Given the description of an element on the screen output the (x, y) to click on. 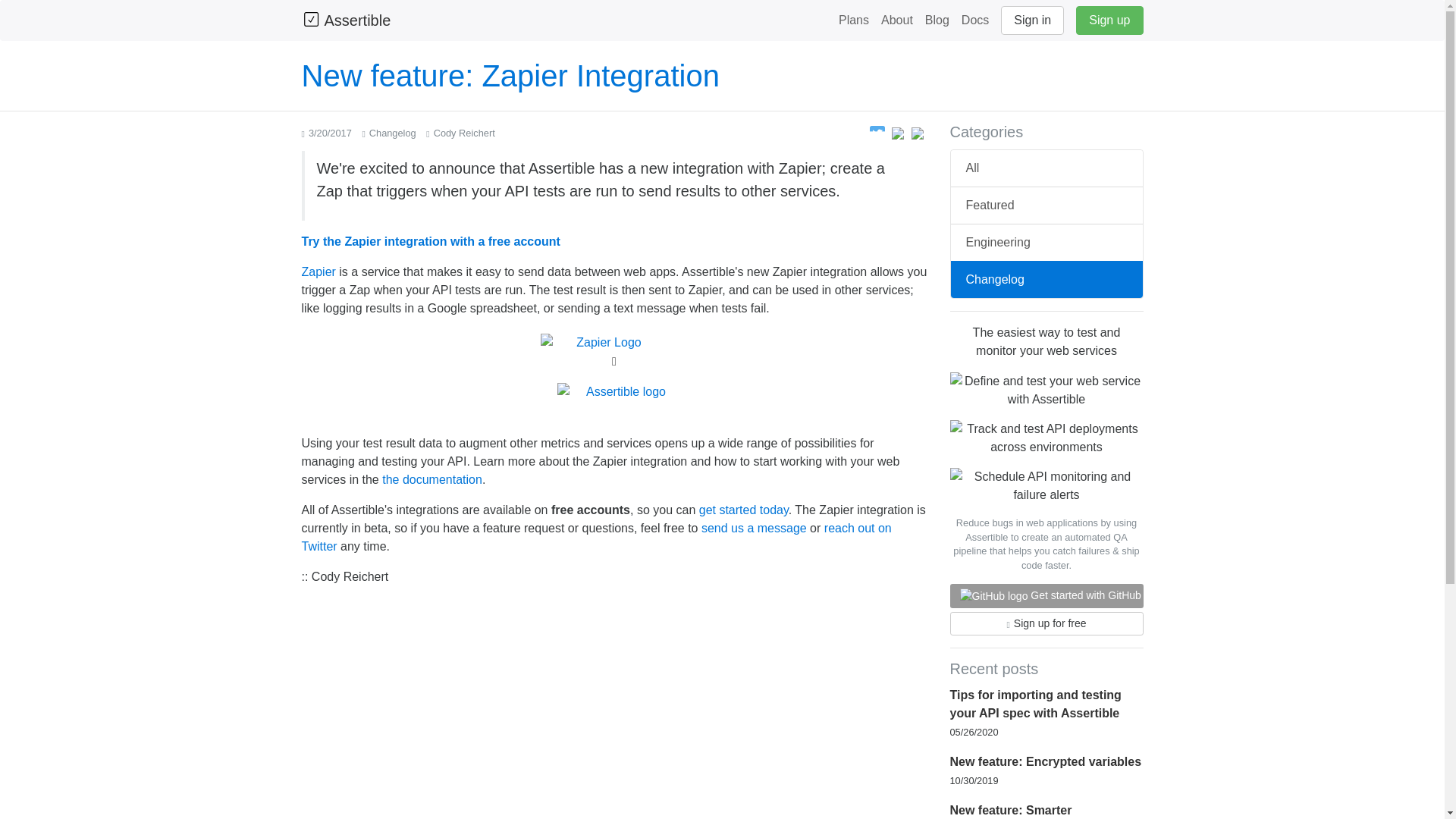
get started today (743, 509)
Docs (974, 20)
Featured (1046, 205)
Changelog (1046, 279)
Blog (936, 20)
Try the Zapier integration with a free account (430, 241)
New feature: Encrypted variables (1045, 761)
Sign up (1108, 20)
send us a message (753, 527)
Engineering (1046, 242)
Sign in to Assertible with GitHub (993, 596)
About (896, 20)
New feature: Smarter notifications (1010, 811)
Get started with GitHub (1045, 595)
the documentation (431, 479)
